Given the description of an element on the screen output the (x, y) to click on. 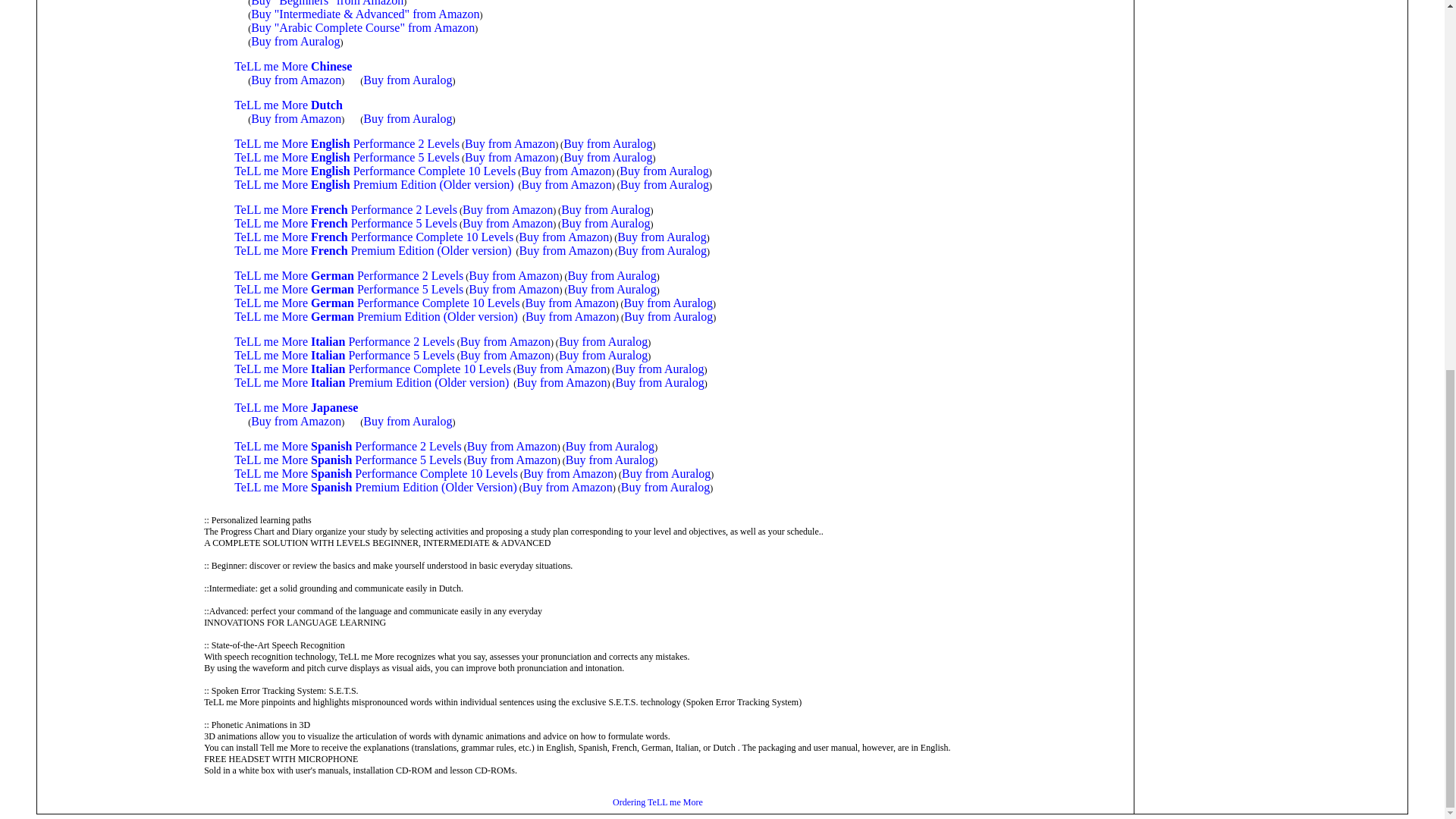
With 90 days Money Back Guarantee (604, 209)
TeLL me More English Performance 5 Levels (347, 156)
Buy "Beginners" from Amazon (326, 3)
TeLL me More English Performance 2 Levels (347, 143)
With 90 days Money Back Guarantee (611, 288)
Buy from Auralog (661, 236)
TeLL me More French Performance 5 Levels (345, 223)
With 90 days Money Back Guarantee (661, 250)
Buy from Auralog (664, 184)
With 90 days Money Back Guarantee (664, 184)
